Given the description of an element on the screen output the (x, y) to click on. 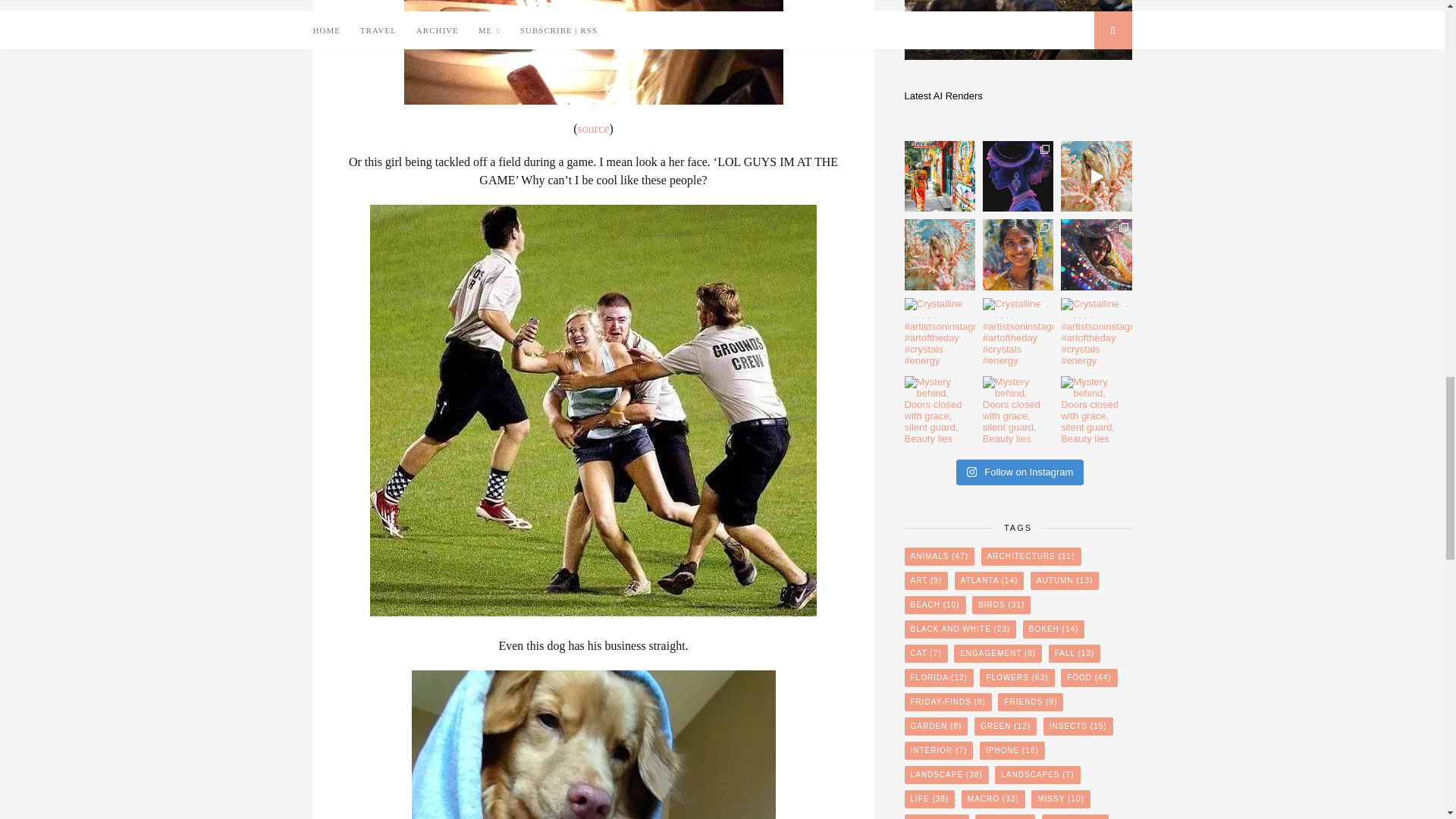
Arrested (594, 128)
source (594, 128)
